Given the description of an element on the screen output the (x, y) to click on. 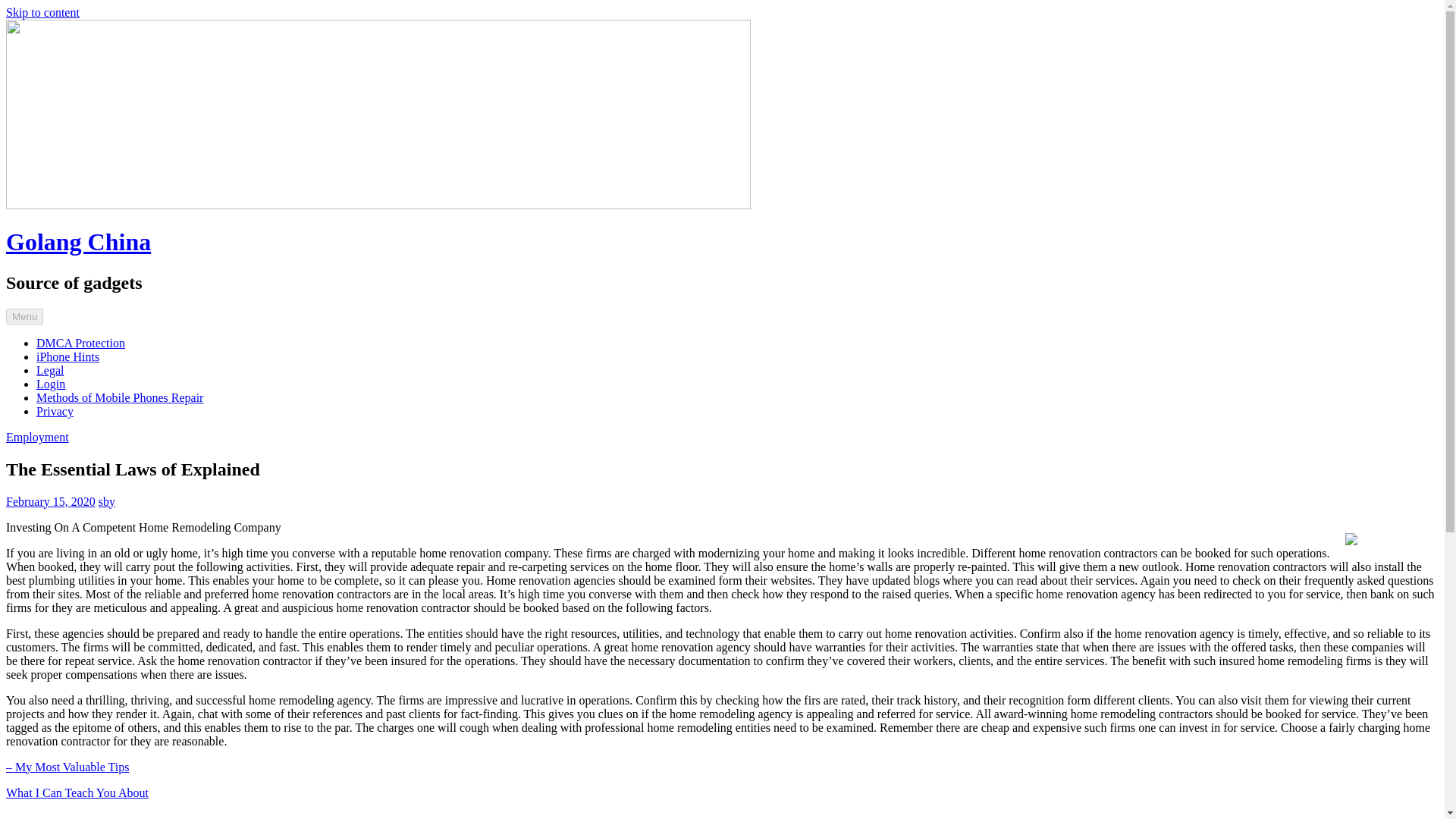
February 15, 2020 (50, 501)
sby (107, 501)
Legal (50, 369)
Menu (24, 316)
Login (50, 383)
Employment (36, 436)
Methods of Mobile Phones Repair (119, 397)
Skip to content (42, 11)
DMCA Protection (80, 342)
What I Can Teach You About (76, 792)
Privacy (55, 410)
Golang China (78, 241)
iPhone Hints (67, 356)
